Given the description of an element on the screen output the (x, y) to click on. 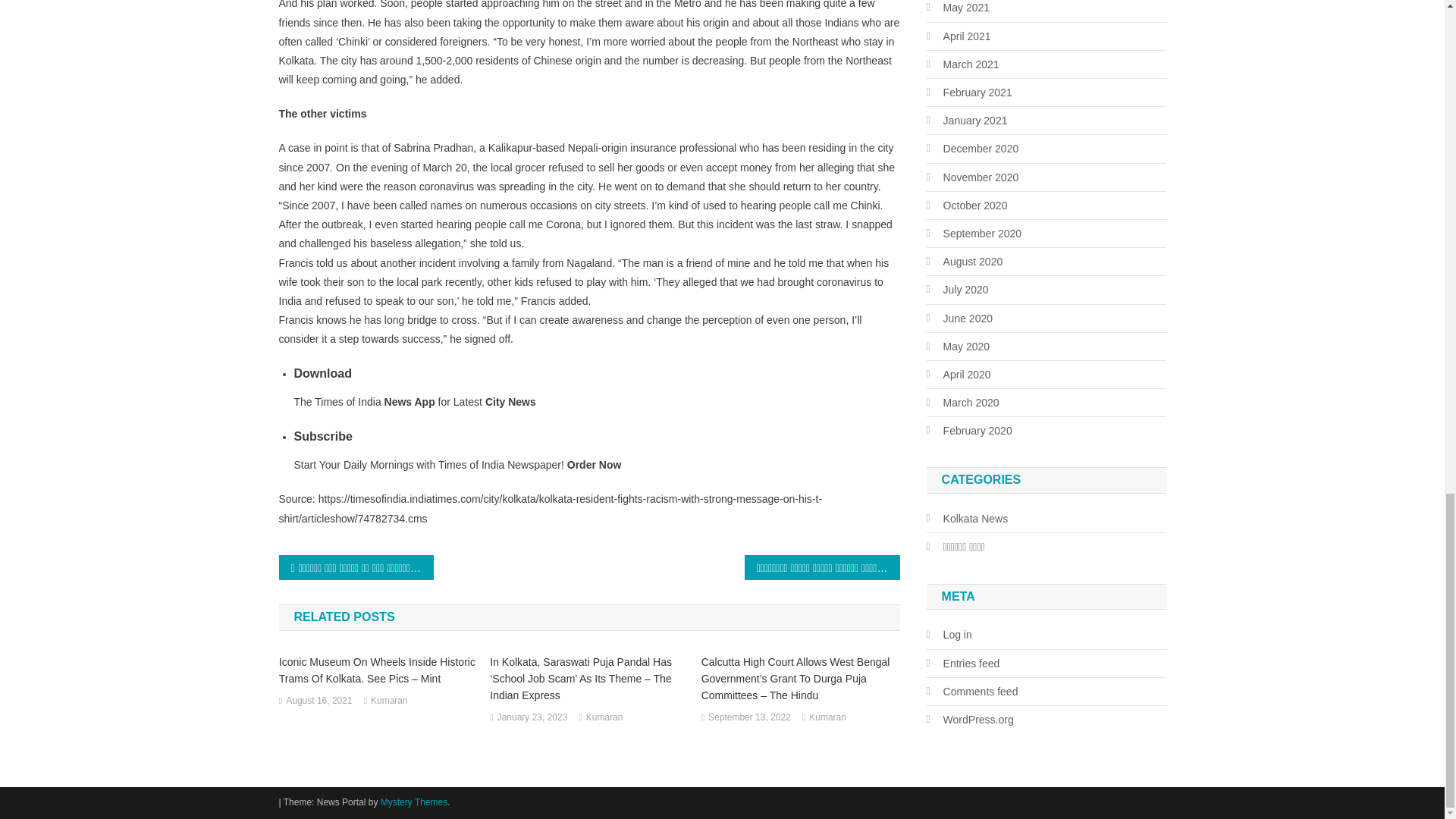
Kumaran (604, 718)
September 13, 2022 (748, 718)
Kumaran (389, 701)
August 16, 2021 (318, 701)
Kumaran (827, 718)
January 23, 2023 (532, 718)
